Given the description of an element on the screen output the (x, y) to click on. 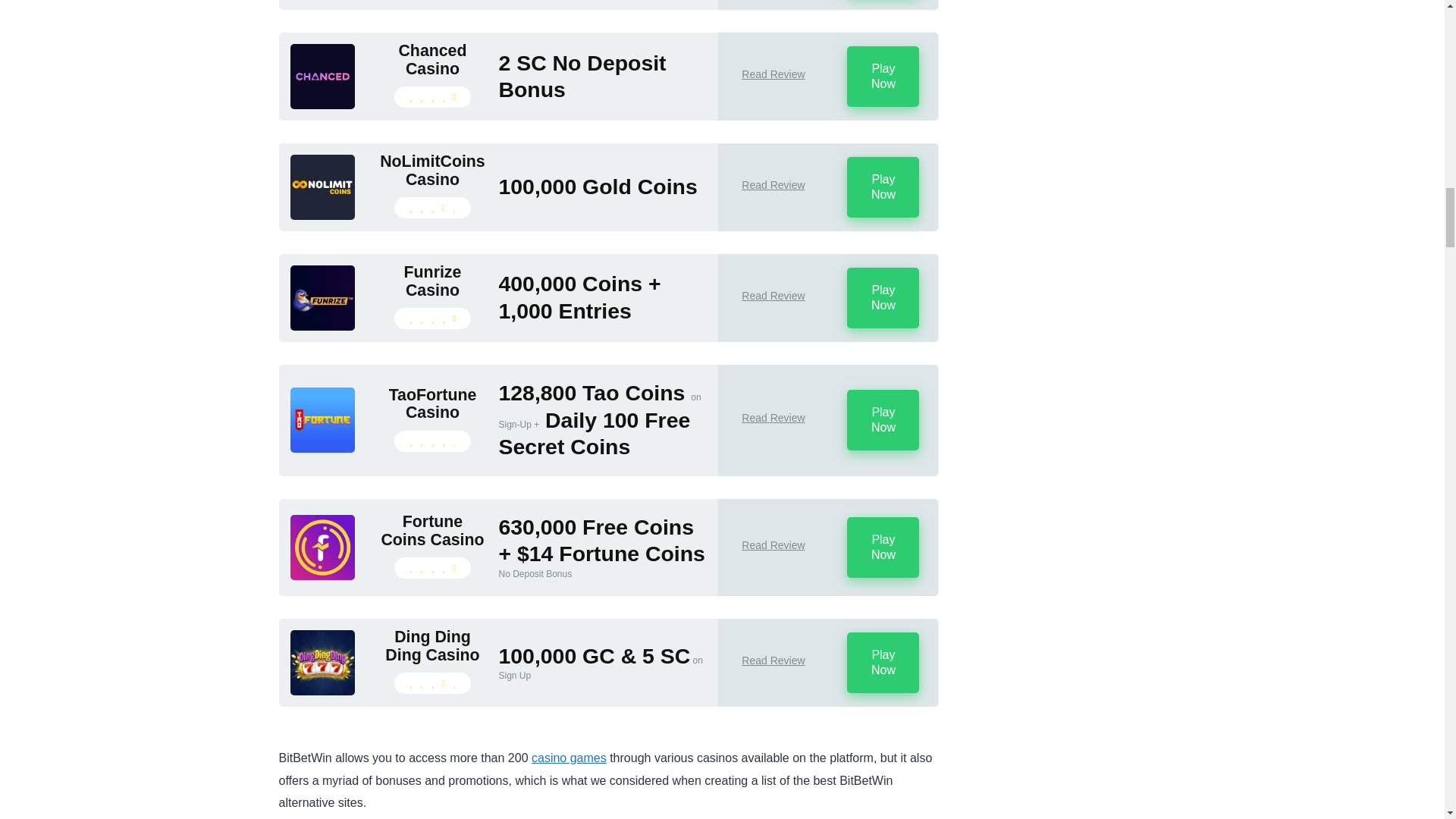
Vegas Gems Casino (322, 0)
